Given the description of an element on the screen output the (x, y) to click on. 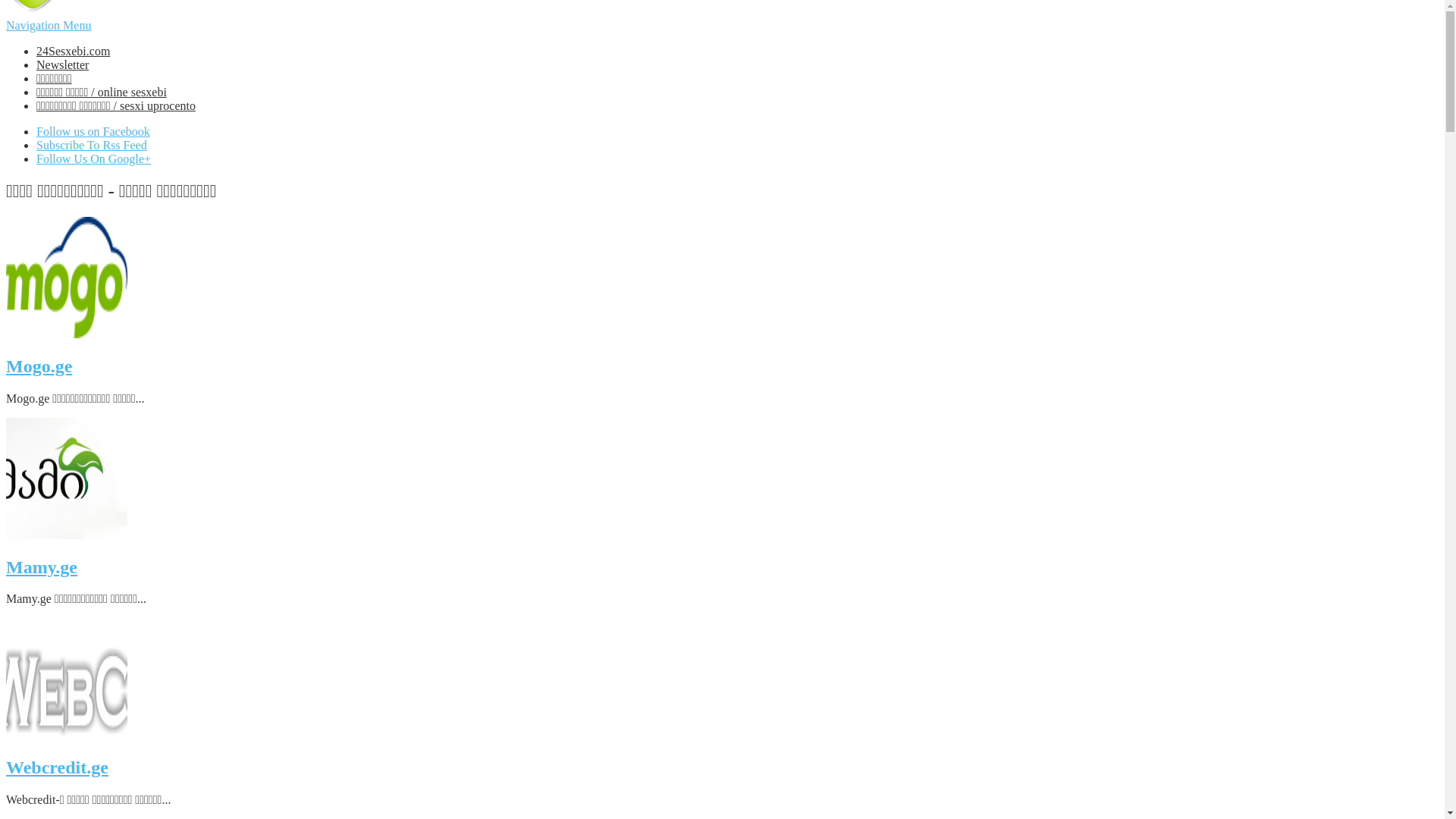
Newsletter Element type: text (62, 64)
Subscribe To Rss Feed Element type: text (91, 144)
Webcredit.ge Element type: text (57, 767)
24Sesxebi.com Element type: text (72, 50)
Mogo.ge Element type: text (39, 366)
Navigation Menu Element type: text (48, 24)
Mamy.ge Element type: text (41, 567)
Follow Us On Google+ Element type: text (93, 158)
Follow us on Facebook Element type: text (93, 131)
